Given the description of an element on the screen output the (x, y) to click on. 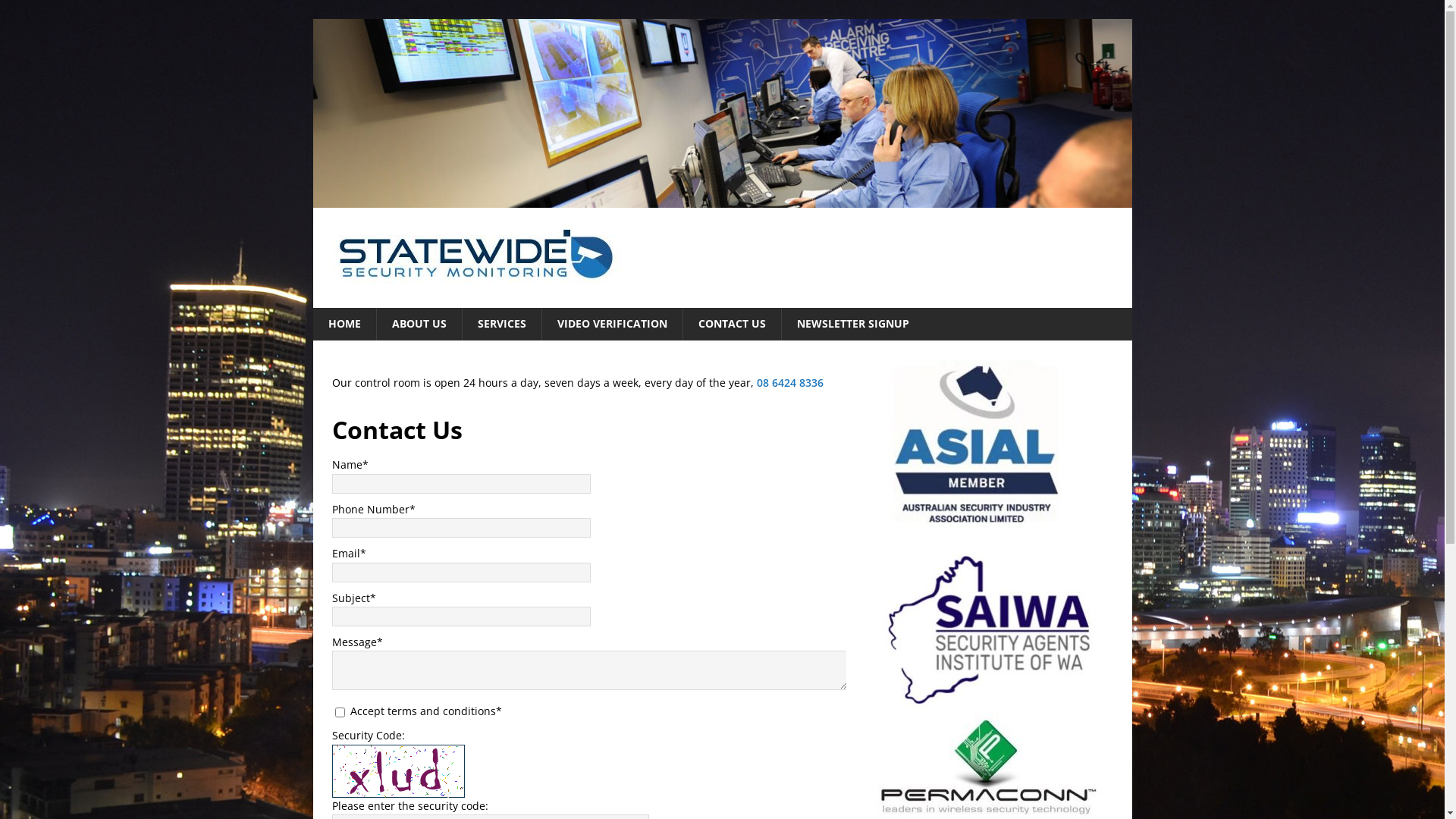
08 6424 8336 Element type: text (789, 381)
VIDEO VERIFICATION Element type: text (611, 323)
NEWSLETTER SIGNUP Element type: text (852, 323)
HOME Element type: text (343, 323)
ABOUT US Element type: text (418, 323)
SERVICES Element type: text (500, 323)
Statewide Security Monitoring Element type: hover (721, 198)
CONTACT US Element type: text (731, 323)
